Given the description of an element on the screen output the (x, y) to click on. 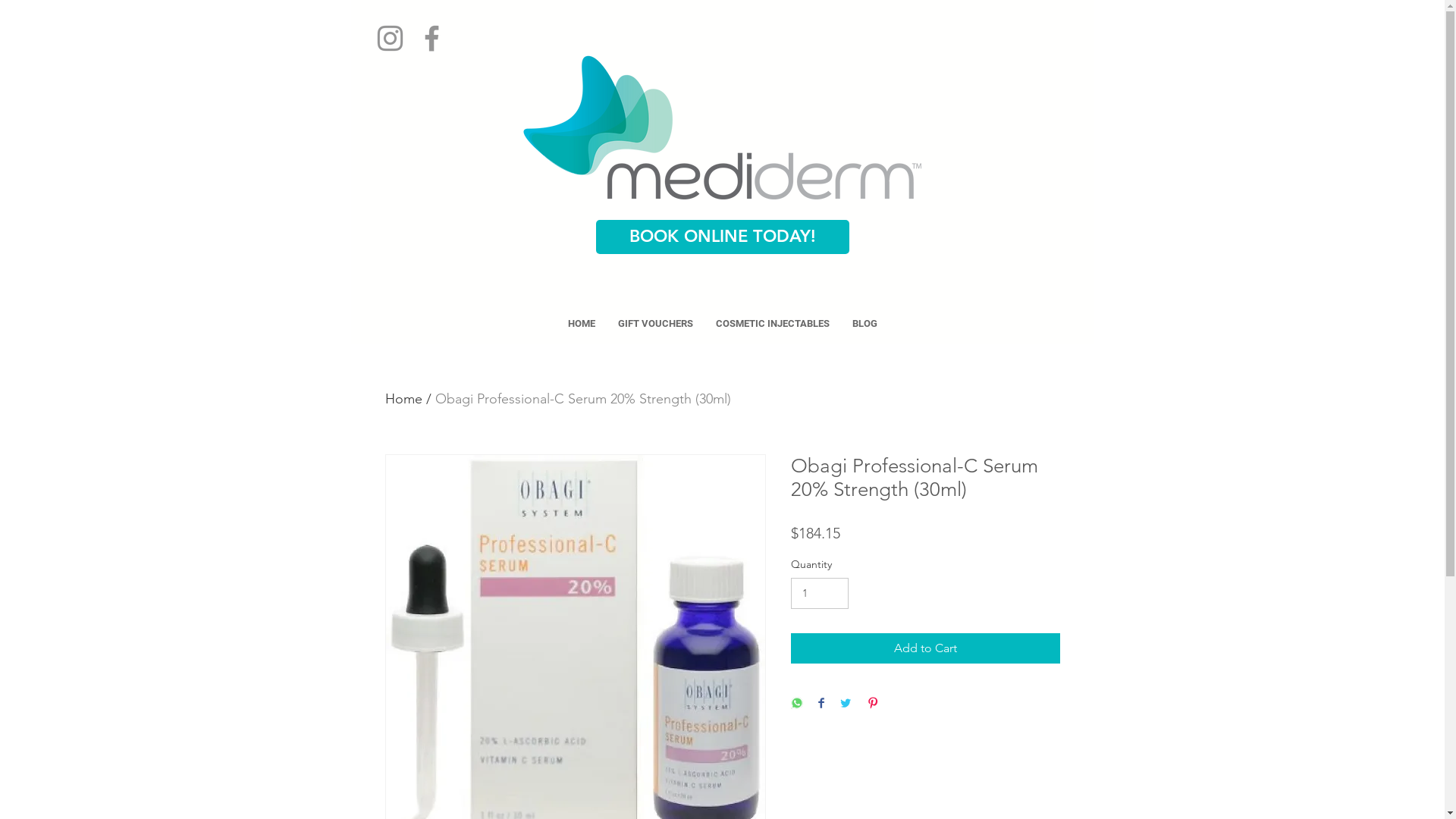
HOME Element type: text (581, 323)
BLOG Element type: text (864, 323)
COSMETIC INJECTABLES Element type: text (772, 323)
BOOK ONLINE TODAY! Element type: text (722, 236)
Home Element type: text (403, 398)
Add to Cart Element type: text (924, 648)
GIFT VOUCHERS Element type: text (655, 323)
